Given the description of an element on the screen output the (x, y) to click on. 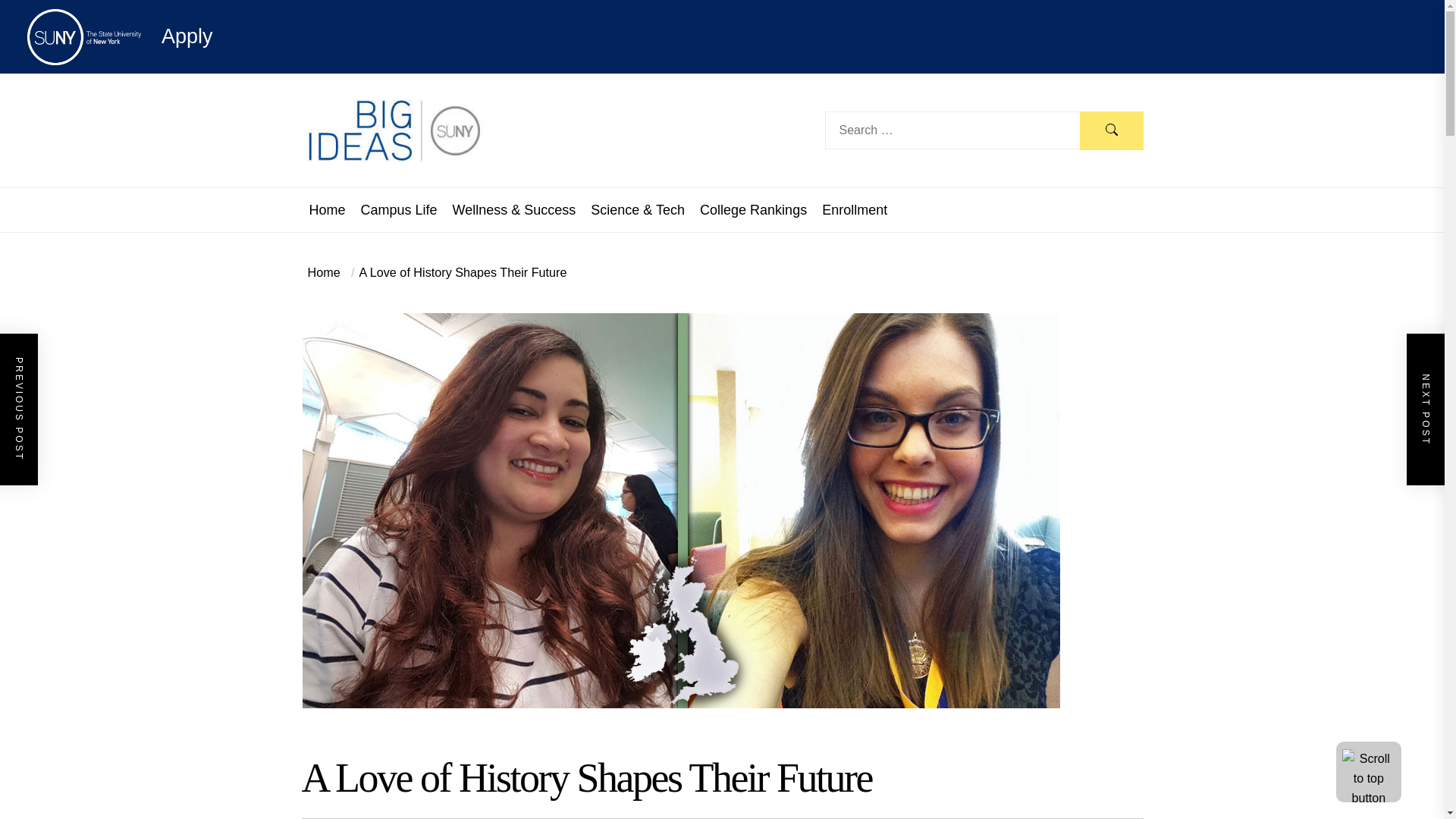
Campus Life (399, 210)
College Rankings (753, 210)
Home (327, 210)
Enrollment (854, 210)
Apply (120, 36)
Home (323, 272)
A Love of History Shapes Their Future (456, 272)
